Given the description of an element on the screen output the (x, y) to click on. 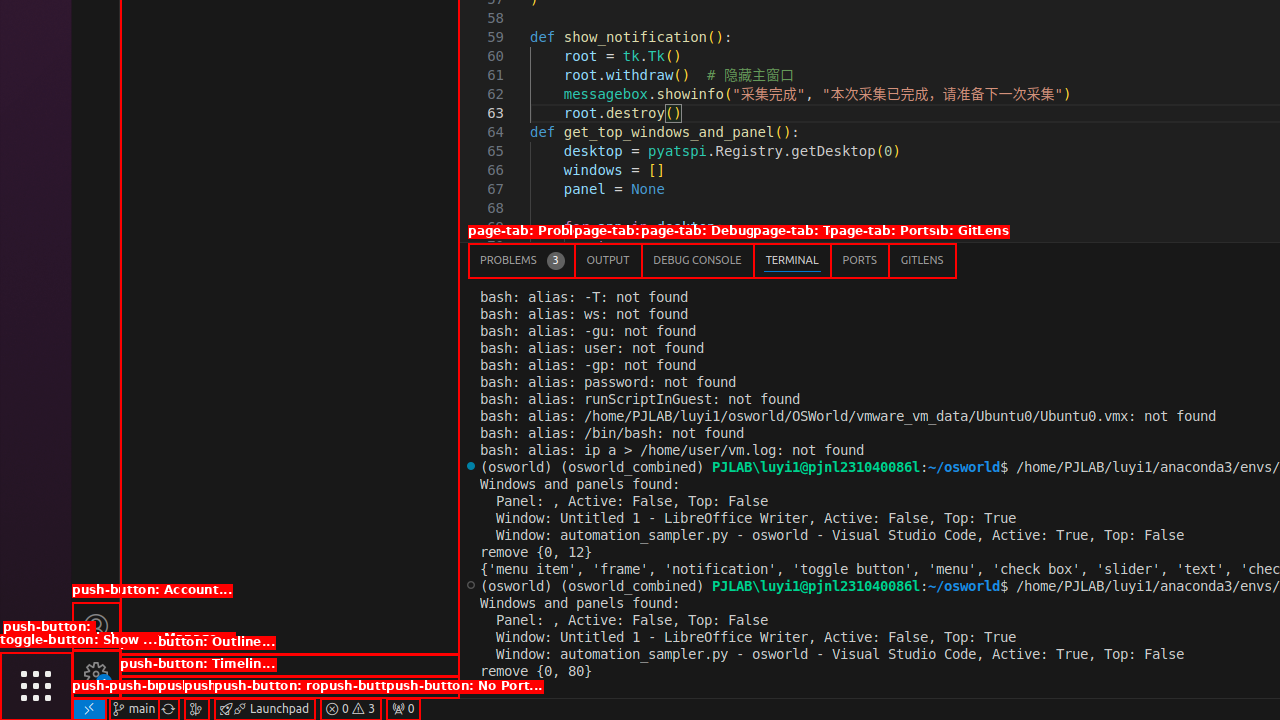
Ports Element type: page-tab (859, 260)
Timeline Section Element type: push-button (289, 687)
Active View Switcher Element type: page-tab-list (712, 260)
Problems (Ctrl+Shift+M) - Total 3 Problems Element type: page-tab (521, 260)
